Given the description of an element on the screen output the (x, y) to click on. 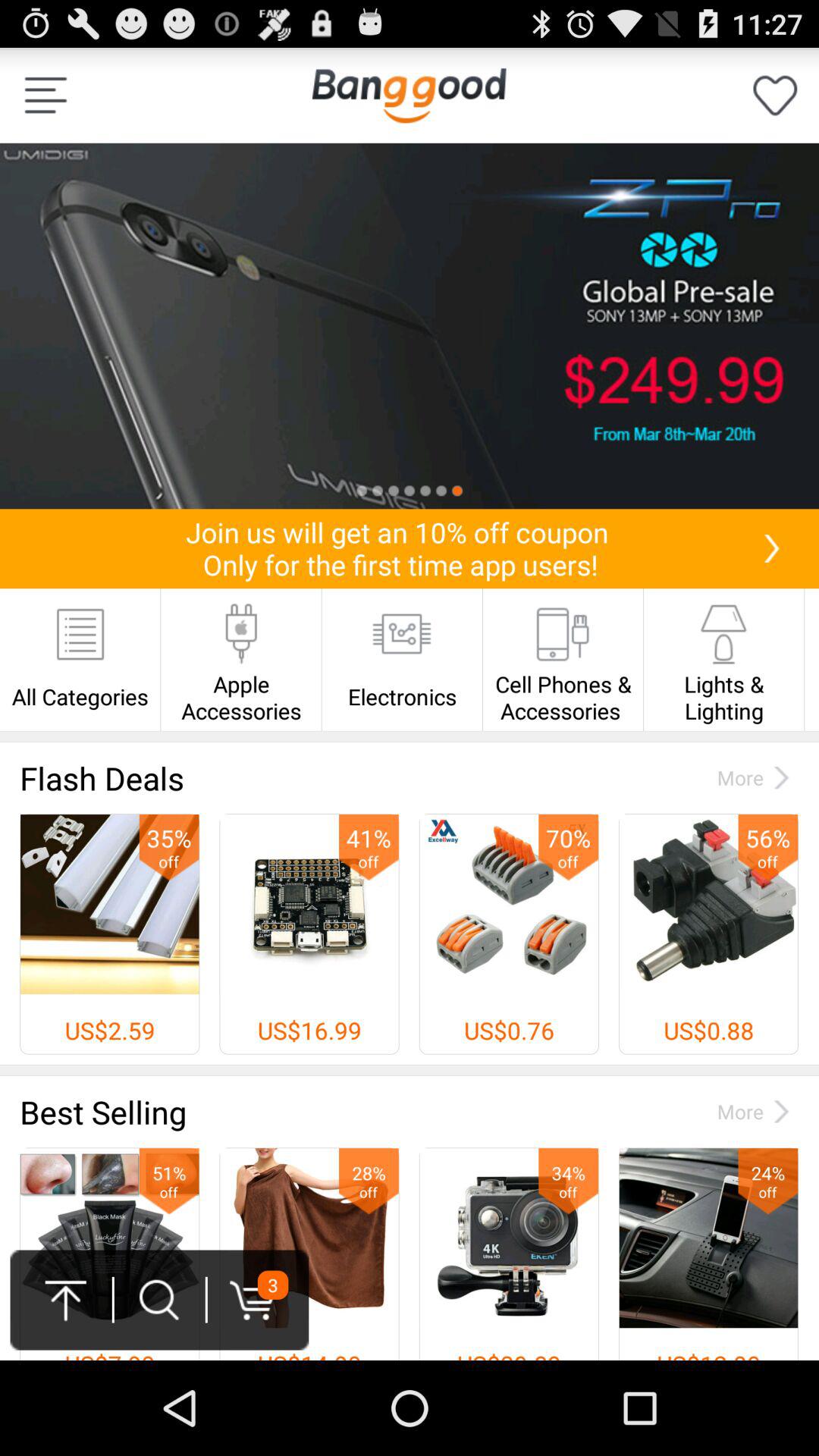
select the icon above join us will icon (409, 326)
